Given the description of an element on the screen output the (x, y) to click on. 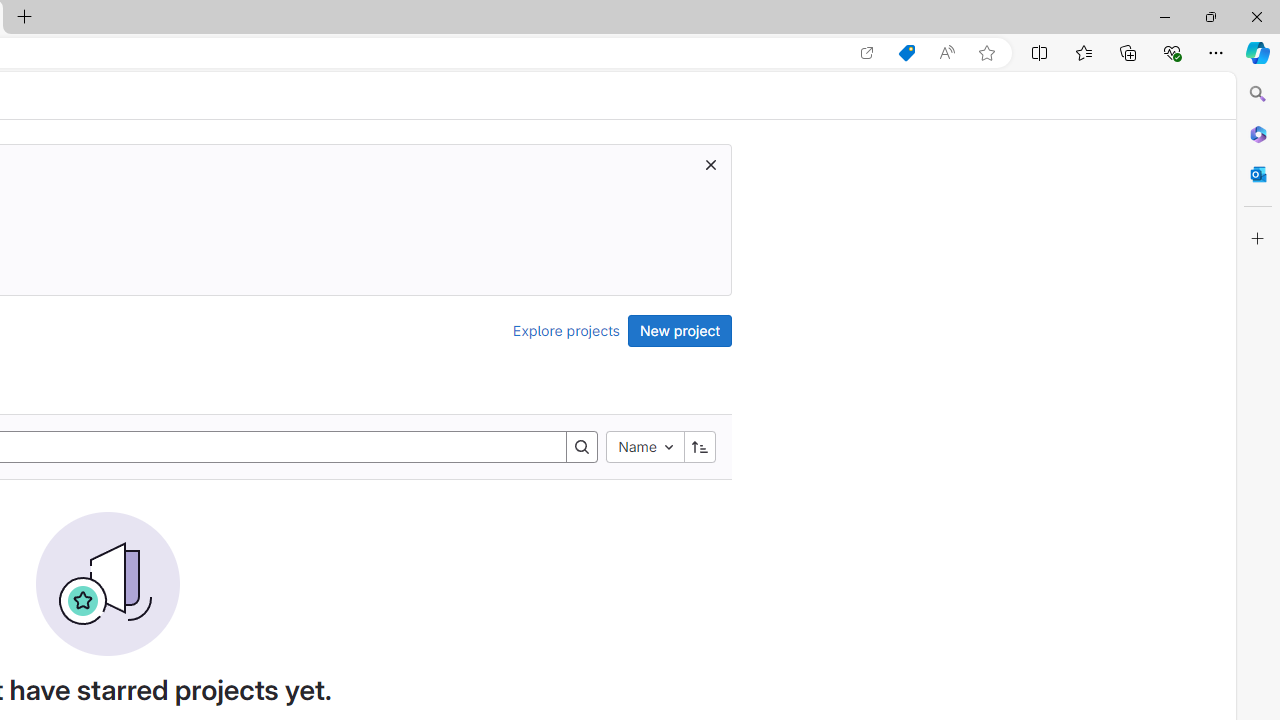
Explore projects (565, 330)
Dismiss trial promotion (710, 164)
Class: s16 gl-icon gl-button-icon  (710, 164)
